Given the description of an element on the screen output the (x, y) to click on. 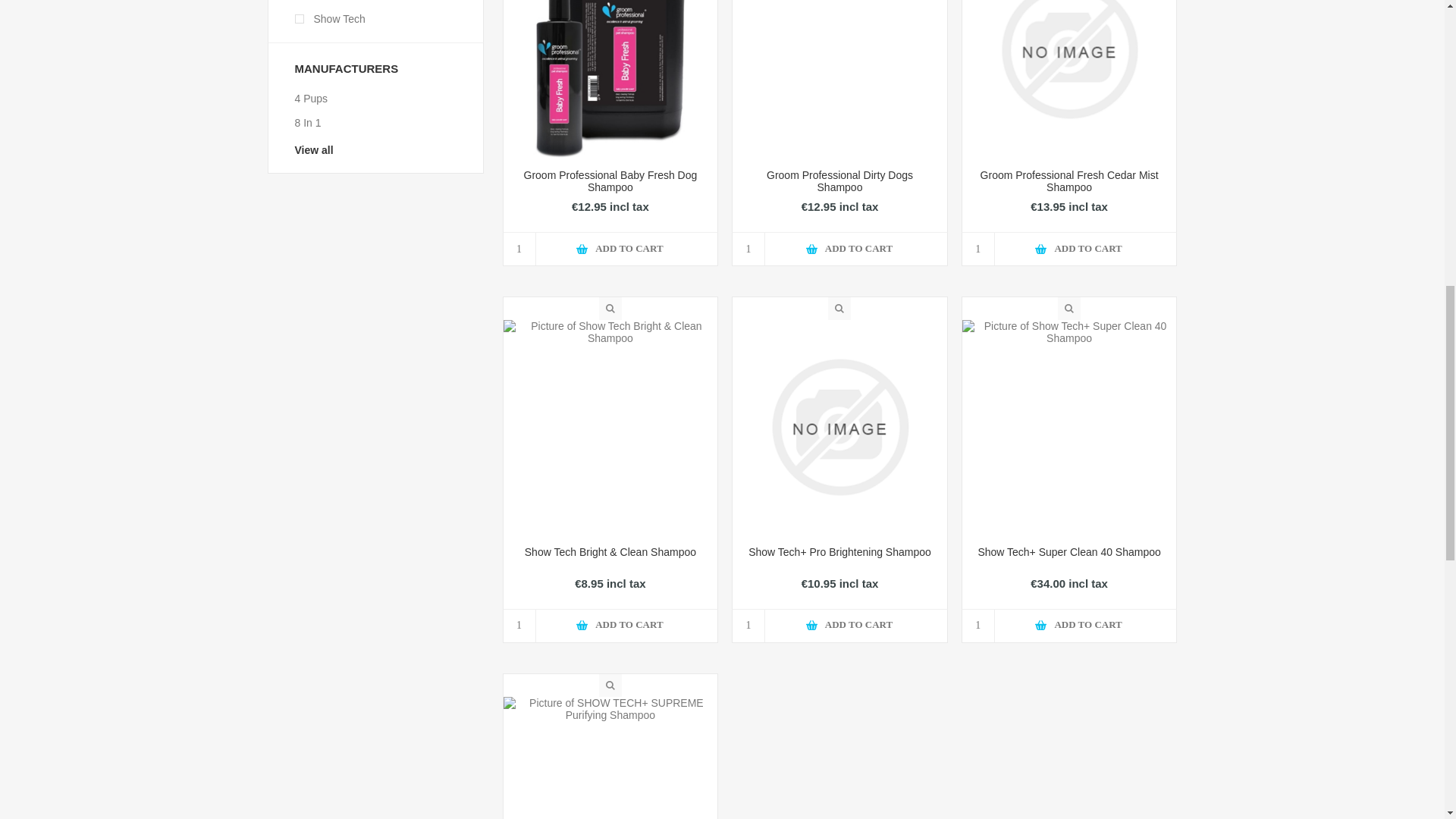
Add to compare list (592, 242)
1 (519, 248)
Add to compare list (1051, 242)
1 (748, 248)
Add to compare list (821, 242)
Add to wishlist (627, 242)
Add to wishlist (1086, 242)
1 (978, 248)
Add to wishlist (856, 242)
